Given the description of an element on the screen output the (x, y) to click on. 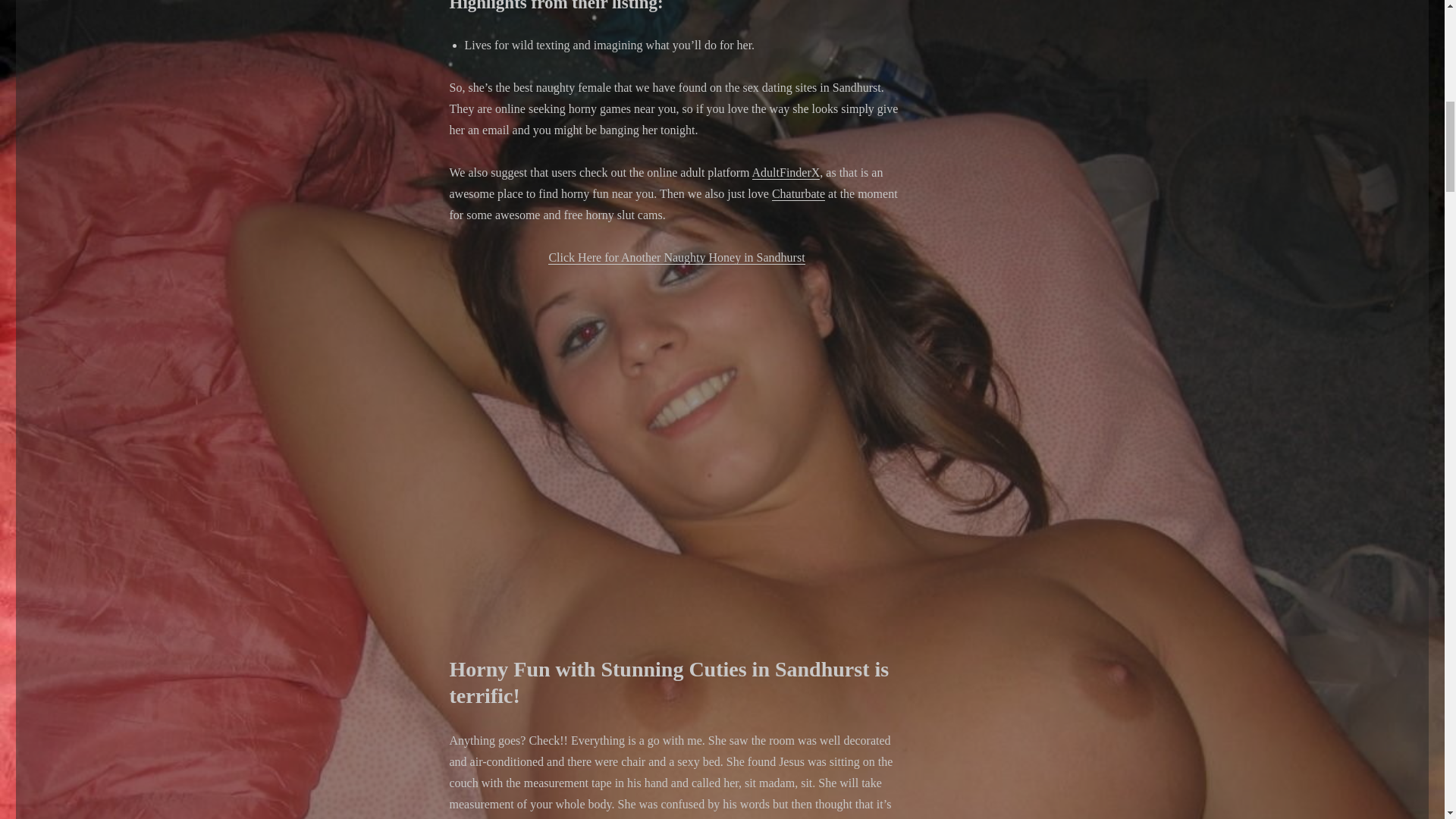
Casual Sex (676, 440)
AdultFinderX (786, 172)
Chaturbate (798, 193)
Click Here for Another Naughty Honey in Sandhurst (676, 256)
